Given the description of an element on the screen output the (x, y) to click on. 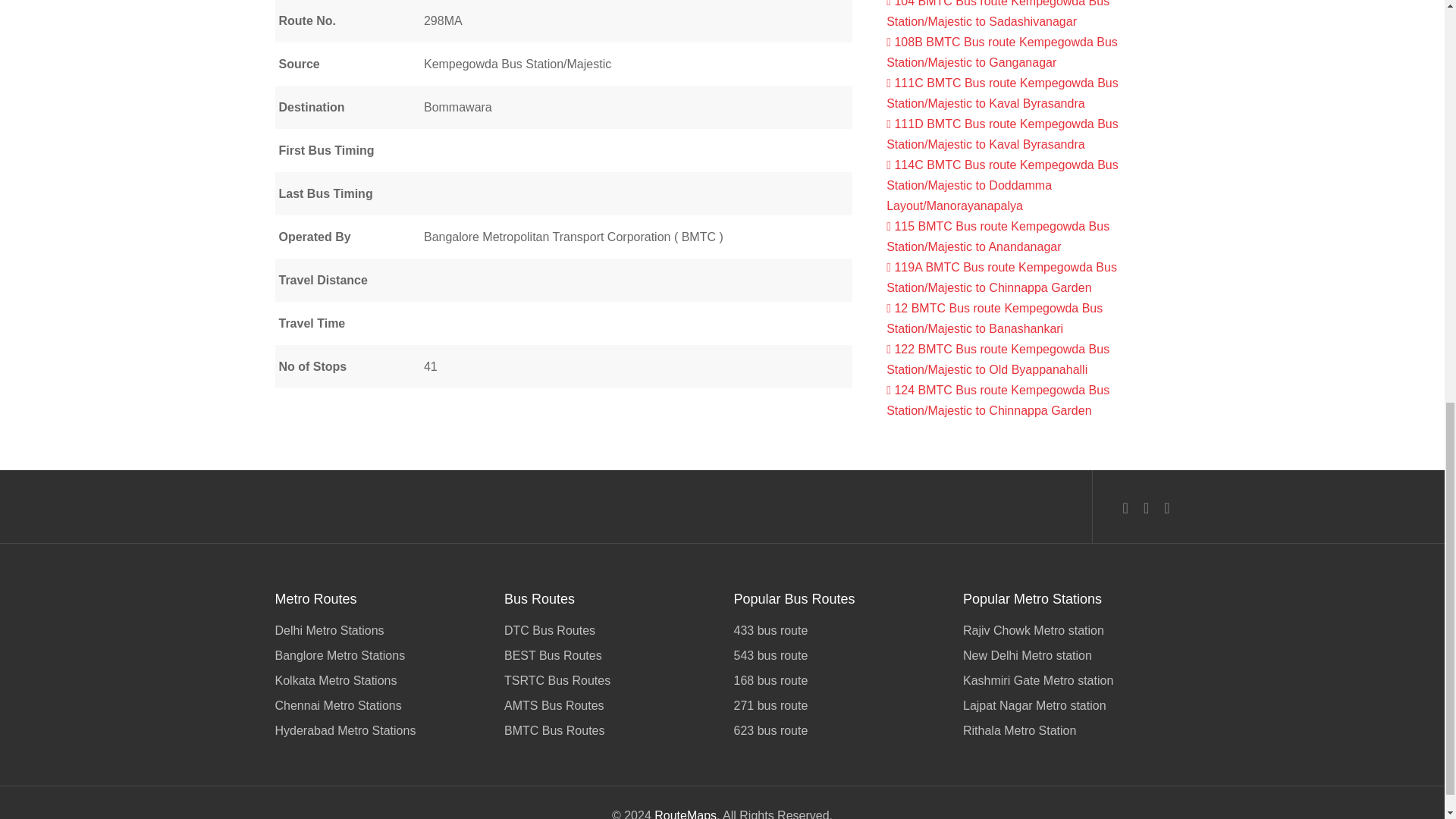
168 bus route (836, 680)
TSRTC Bus Routes (607, 680)
Delhi Metro Stations (378, 631)
271 bus route (836, 705)
Hyderabad Metro Stations (378, 729)
433 bus route (836, 631)
Rajiv Chowk Metro station (1066, 631)
DTC Bus Routes (607, 631)
Twitter (1145, 507)
Pinterest (1166, 507)
Facebook (1125, 507)
623 bus route (836, 729)
Chennai Metro Stations (378, 705)
AMTS Bus Routes (607, 705)
BMTC Bus Routes (607, 729)
